Given the description of an element on the screen output the (x, y) to click on. 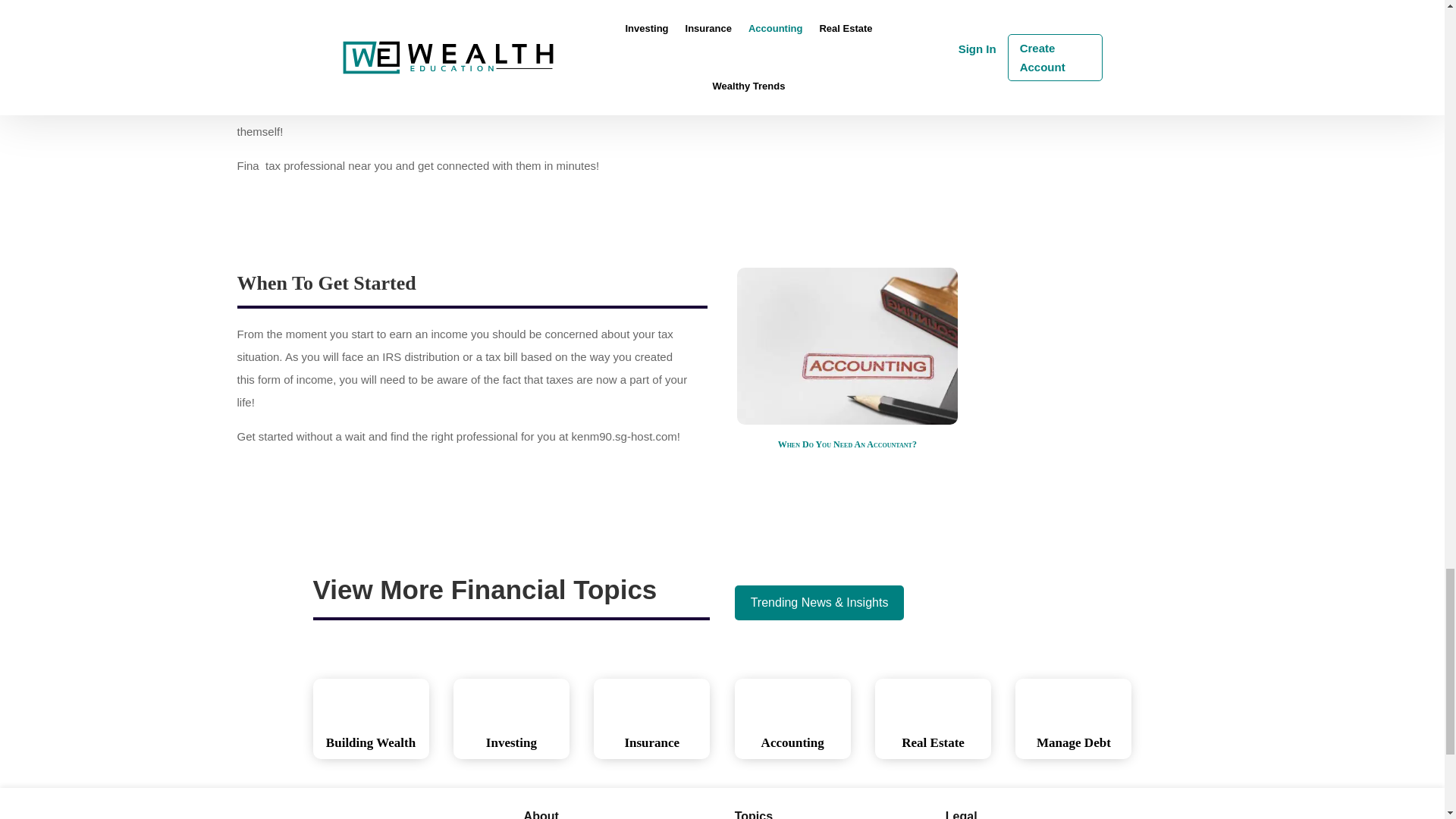
What Does An Accountant Do? (847, 93)
What Does An Accountant Do? (847, 37)
